Given the description of an element on the screen output the (x, y) to click on. 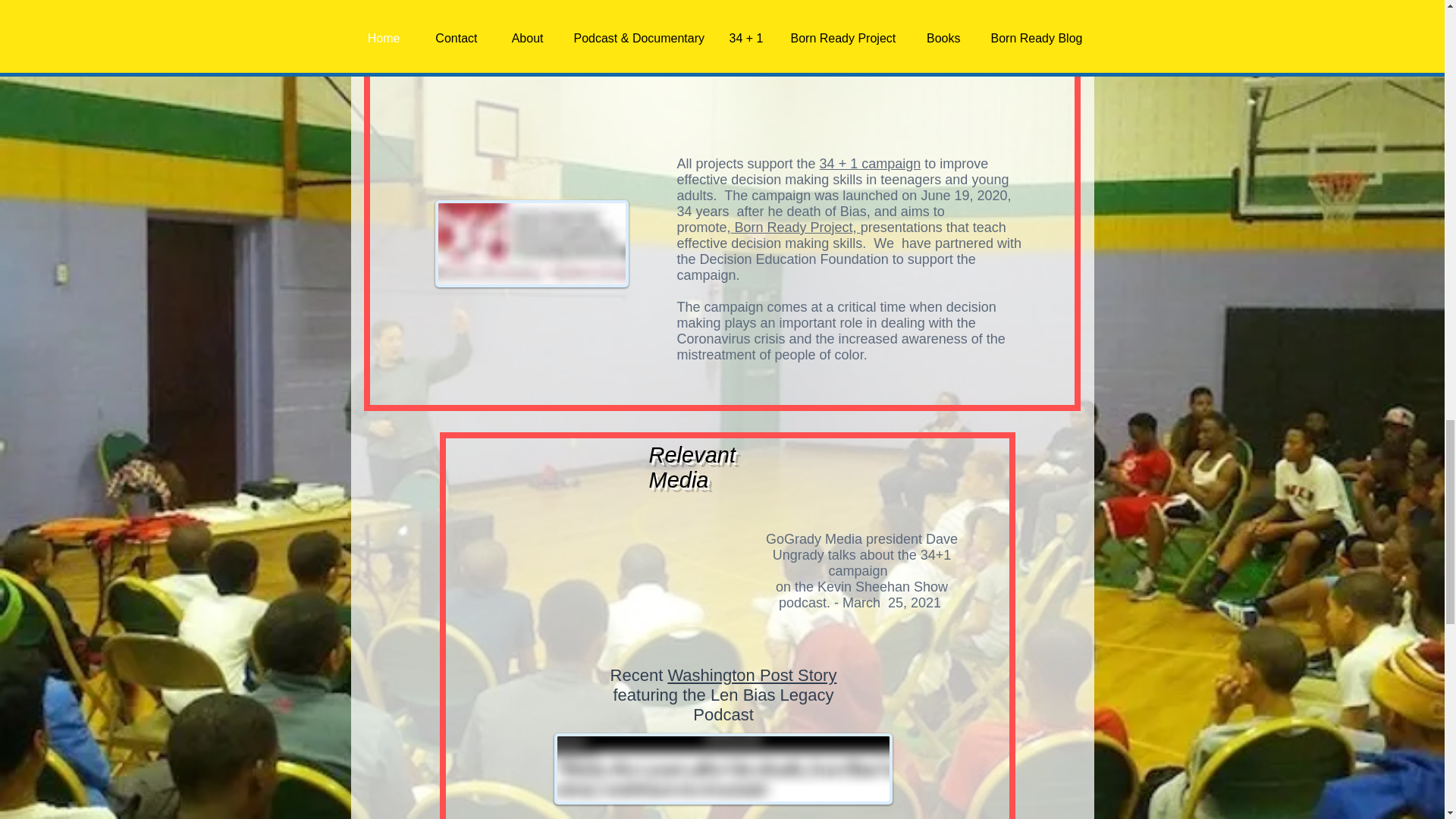
Countdown to 35 (566, 44)
